Given the description of an element on the screen output the (x, y) to click on. 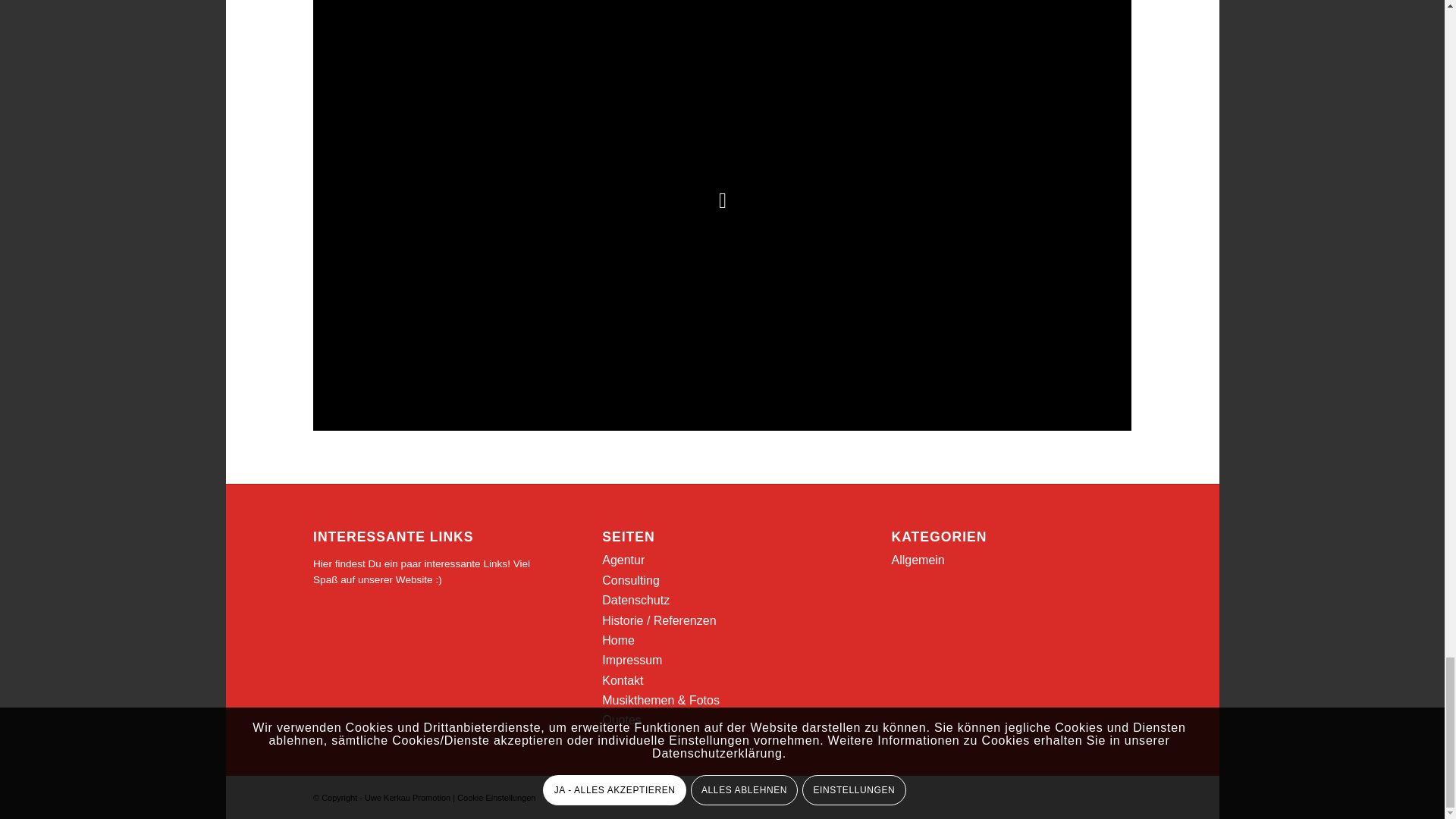
Home (618, 640)
Kontakt (622, 680)
Datenschutz (635, 599)
Quotes (622, 719)
Allgemein (917, 559)
Cookie Einstellungen (496, 797)
Consulting (630, 580)
Impressum (632, 659)
Agentur (623, 559)
